Given the description of an element on the screen output the (x, y) to click on. 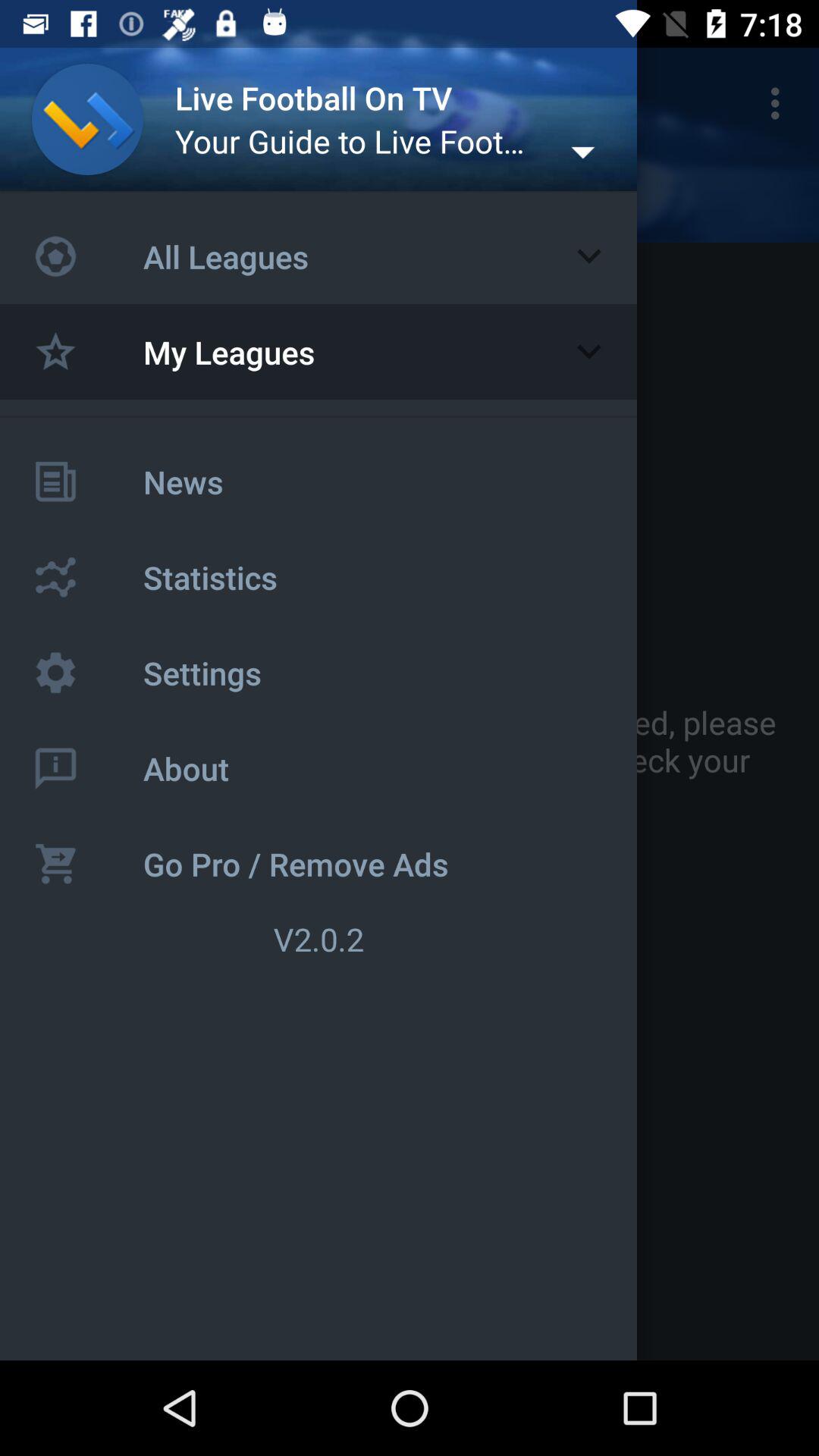
launch item next to the live football on (779, 103)
